Given the description of an element on the screen output the (x, y) to click on. 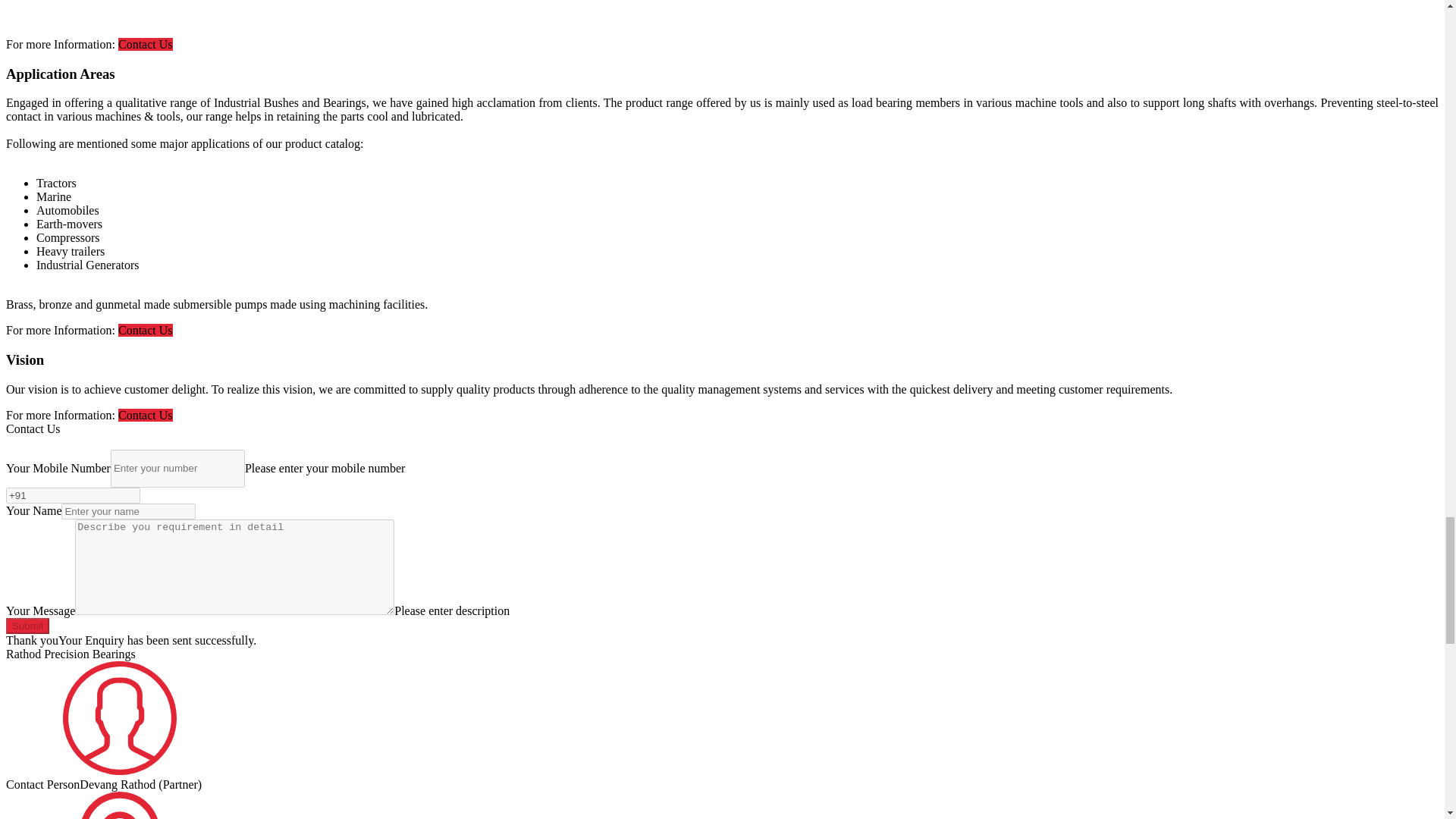
Submit (27, 625)
